Given the description of an element on the screen output the (x, y) to click on. 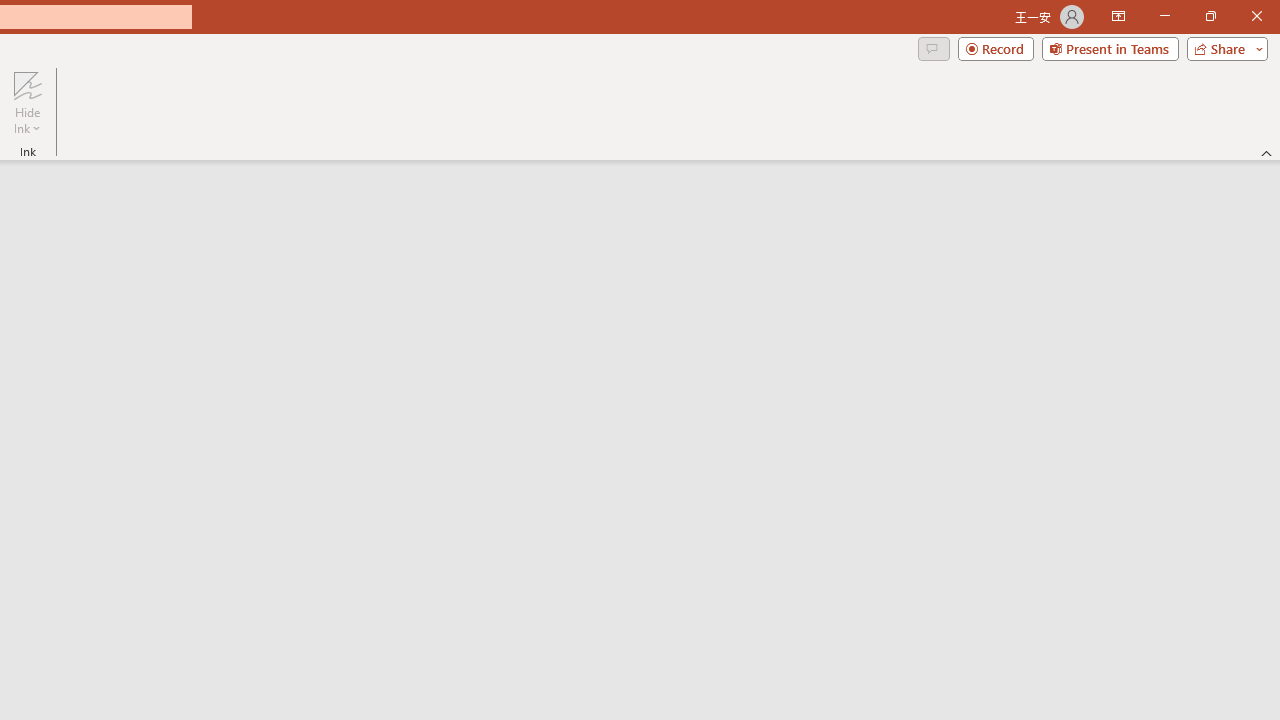
Hide Ink (27, 84)
Hide Ink (27, 102)
